Given the description of an element on the screen output the (x, y) to click on. 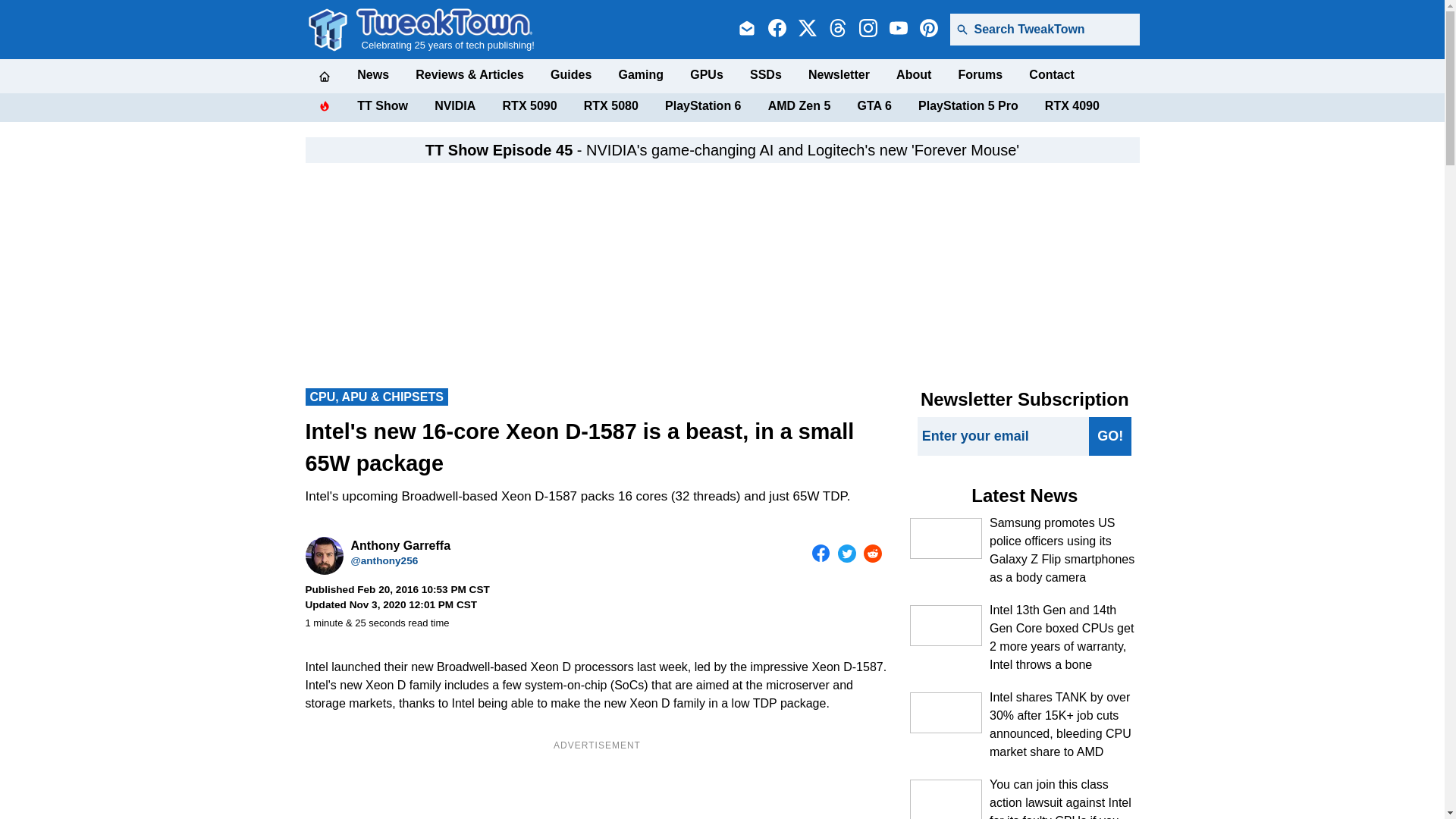
Share on Twitter (846, 553)
Anthony Garreffa (323, 555)
GO! (1110, 435)
Share on Reddit (871, 553)
News (372, 74)
Celebrating 25 years of tech publishing! (445, 29)
Share on Facebook (819, 553)
